Given the description of an element on the screen output the (x, y) to click on. 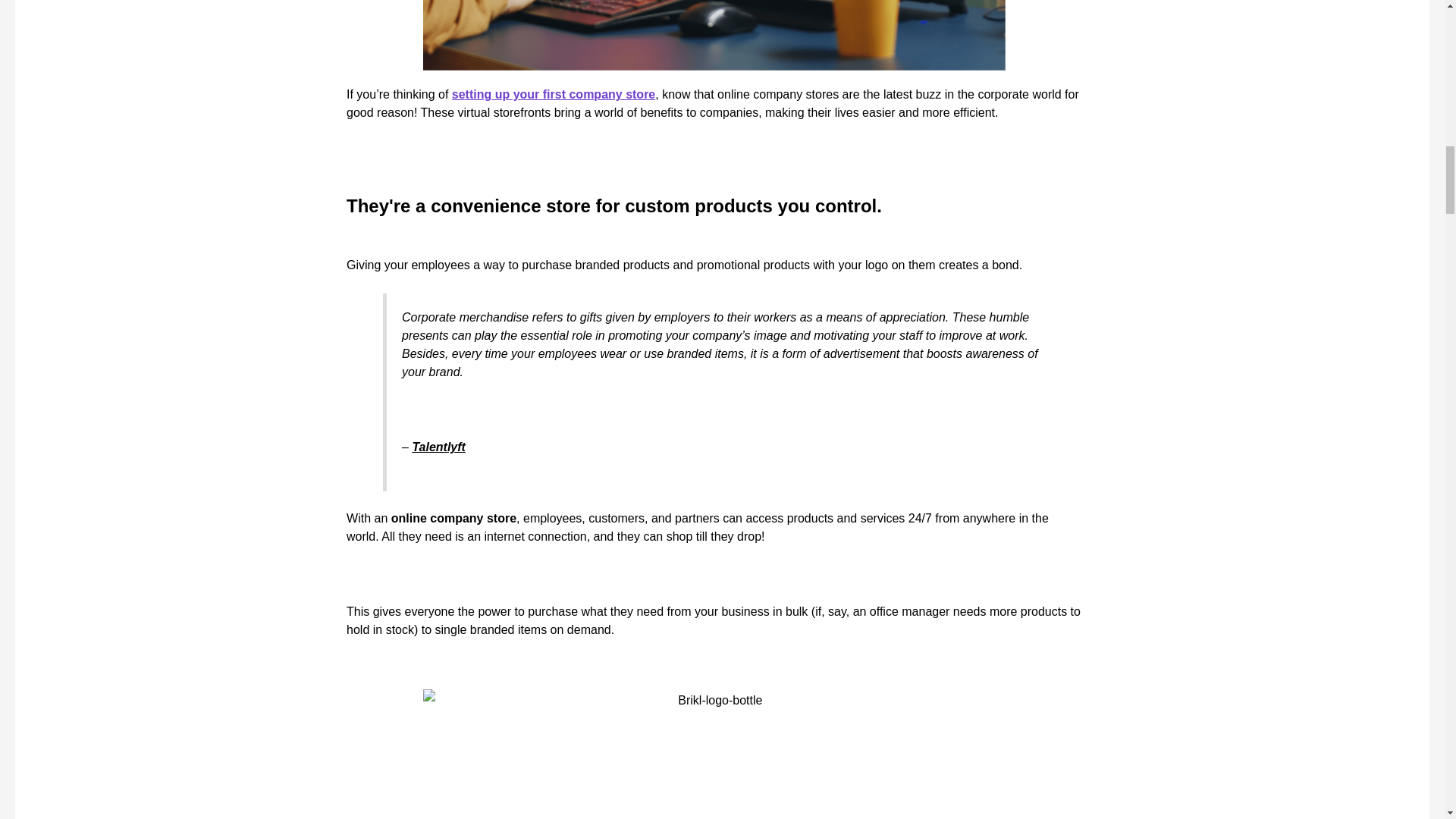
Talentlyft (438, 446)
setting up your first company store (553, 93)
